Given the description of an element on the screen output the (x, y) to click on. 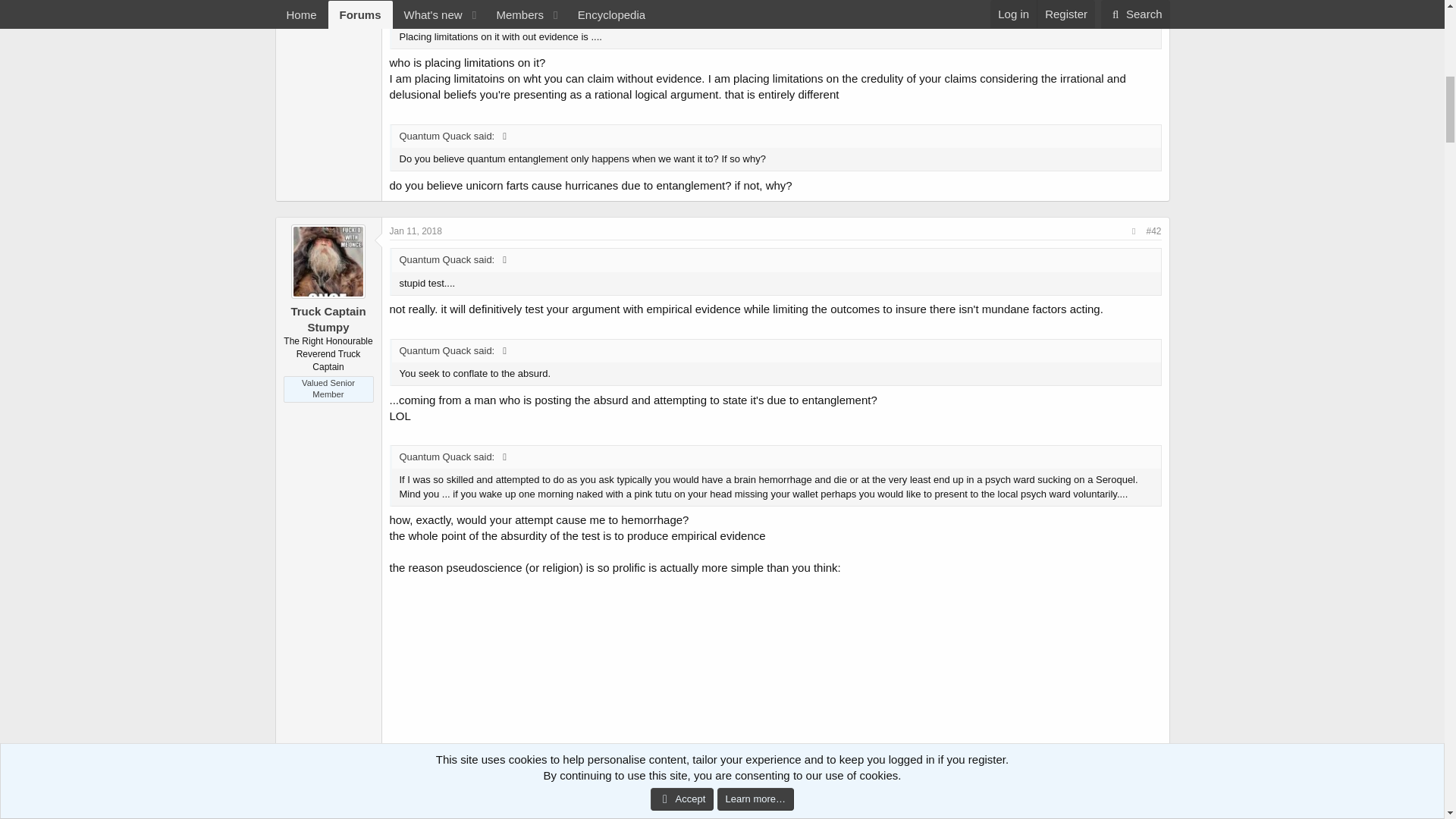
Jan 11, 2018 at 6:51 AM (416, 231)
